Given the description of an element on the screen output the (x, y) to click on. 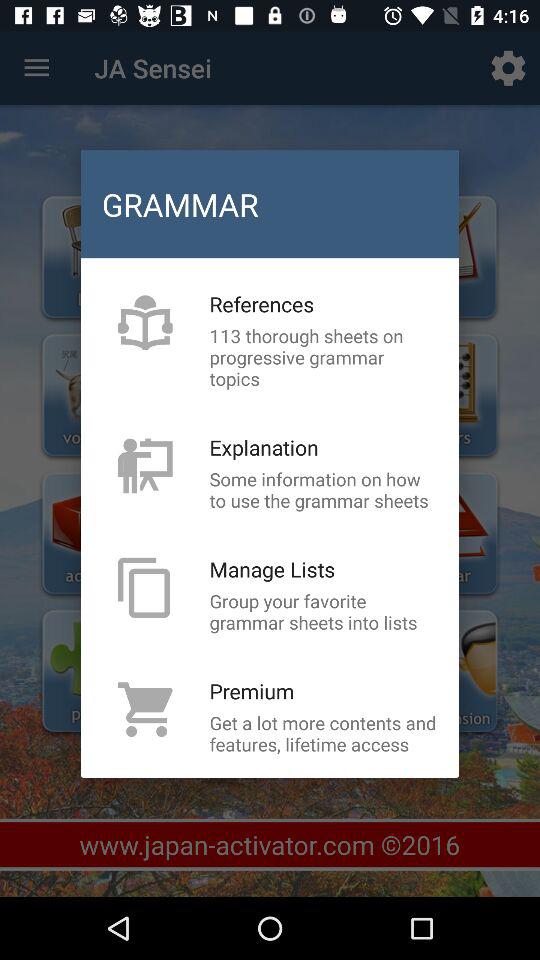
flip until references icon (261, 303)
